Given the description of an element on the screen output the (x, y) to click on. 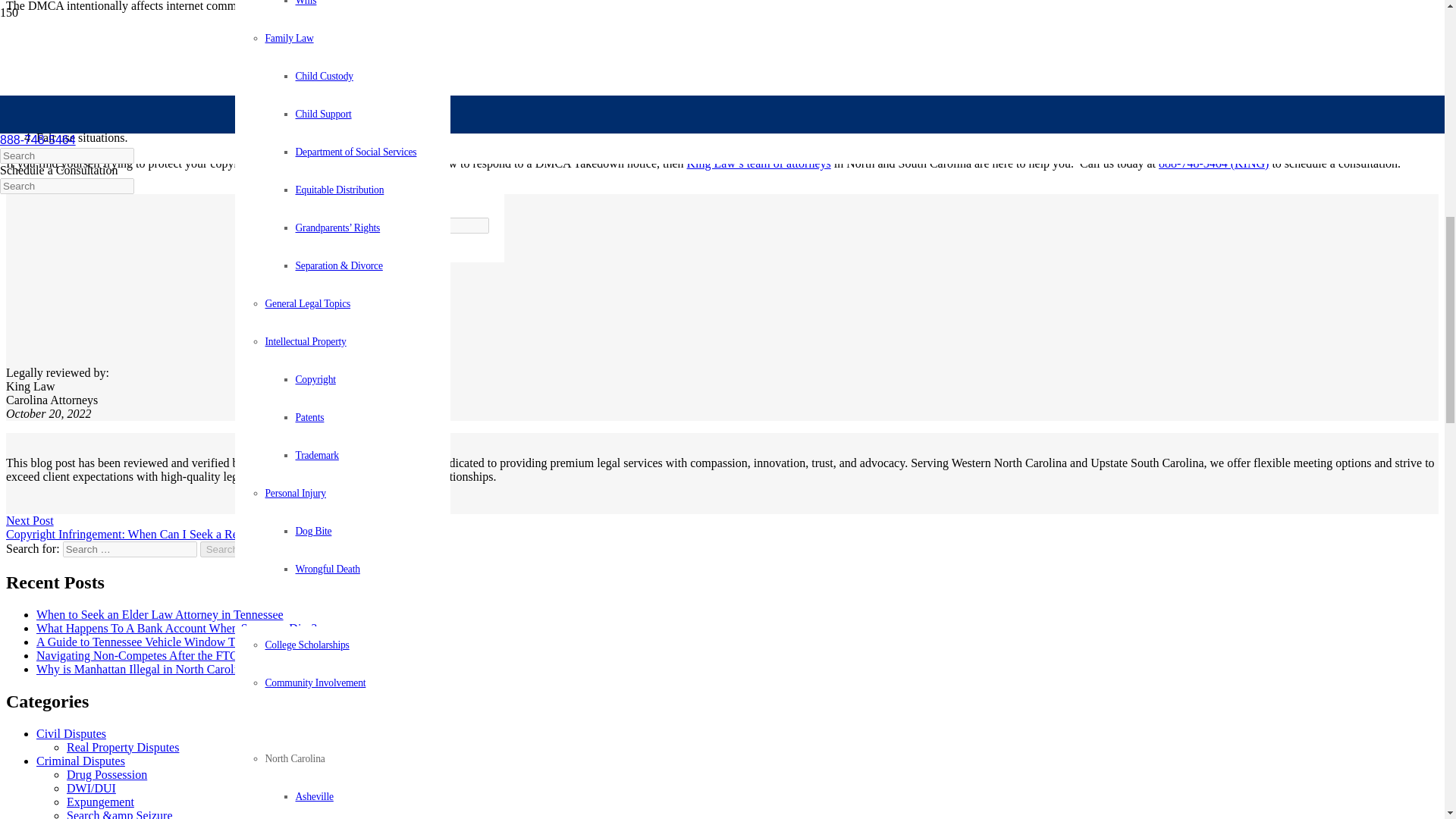
Search (222, 549)
Search (222, 549)
King Law Logo (183, 275)
